Given the description of an element on the screen output the (x, y) to click on. 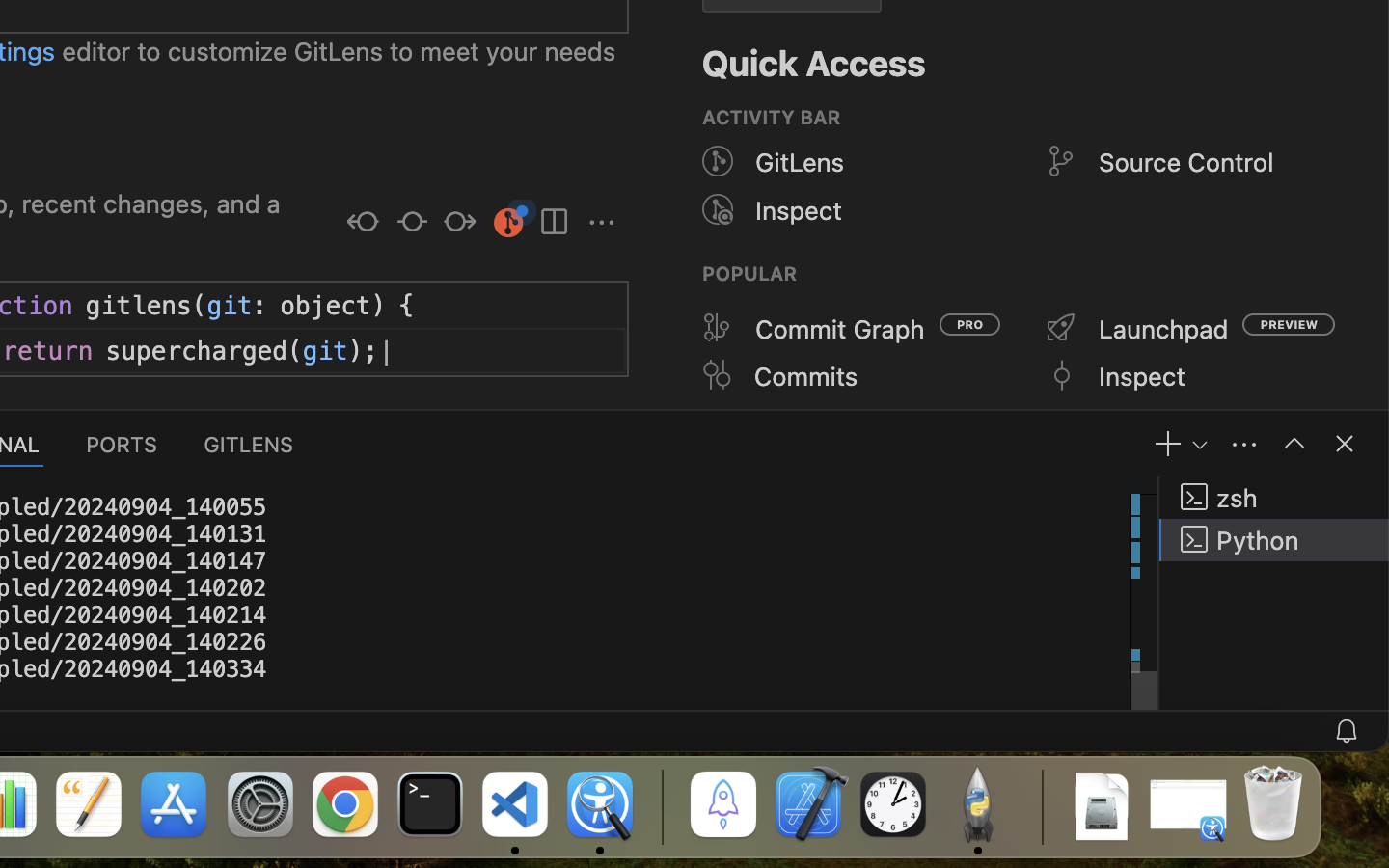
Python  Element type: AXGroup (1274, 539)
0 GITLENS Element type: AXRadioButton (249, 443)
 Element type: AXCheckBox (1294, 443)
 Element type: AXStaticText (1060, 161)
supercharged Element type: AXStaticText (197, 351)
